Given the description of an element on the screen output the (x, y) to click on. 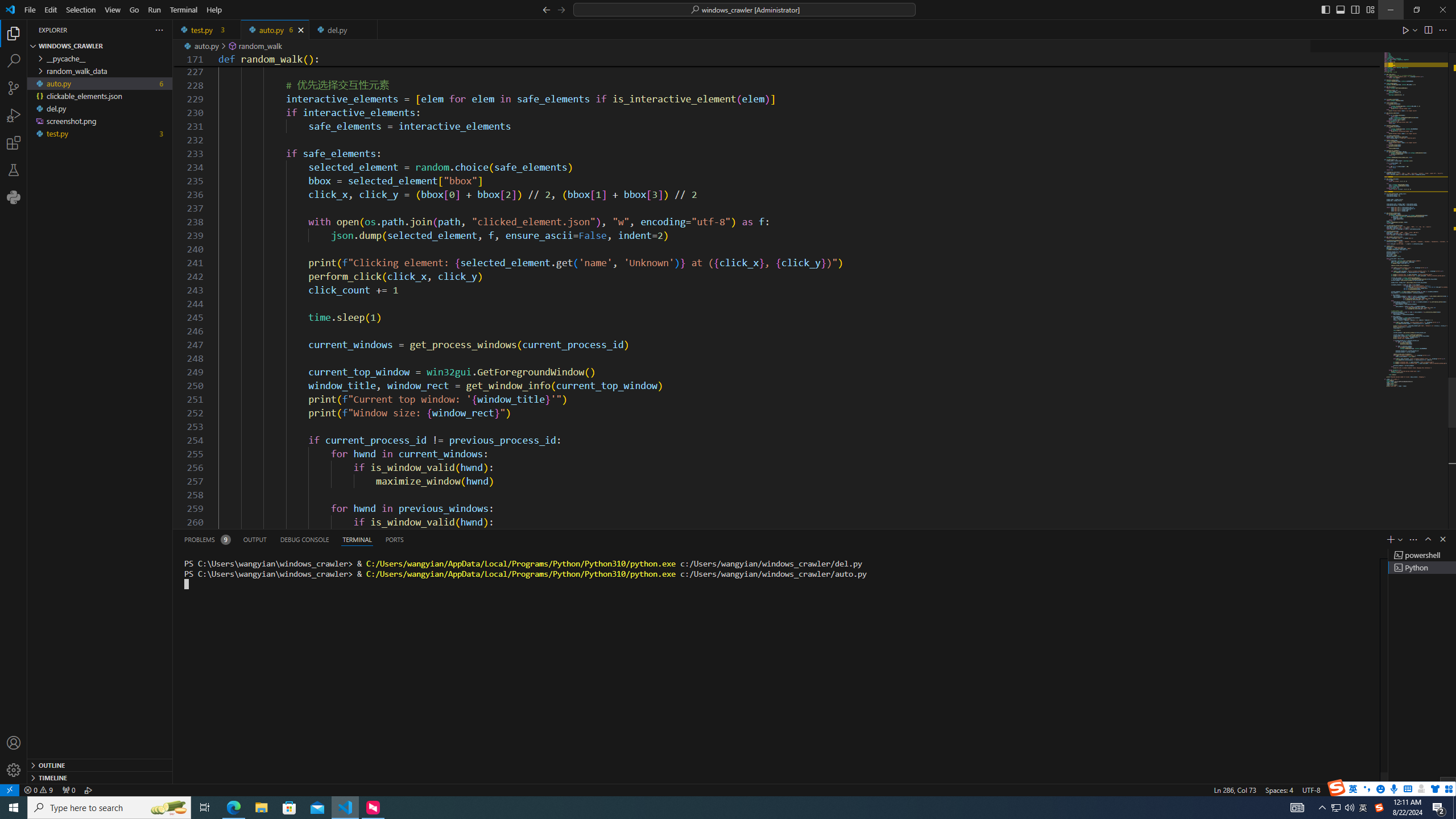
Run Python File (1405, 29)
Views and More Actions... (1412, 539)
Editor actions (1425, 29)
Explorer Section: windows_crawler (99, 46)
Problems (Ctrl+Shift+M) - Total 9 Problems (206, 539)
del.py (342, 29)
Ports (394, 539)
More Actions... (1442, 29)
View (112, 9)
Terminal (Ctrl+`) (356, 539)
Run or Debug... (1414, 29)
Explorer (Ctrl+Shift+E) (13, 33)
Timeline Section (99, 777)
